Given the description of an element on the screen output the (x, y) to click on. 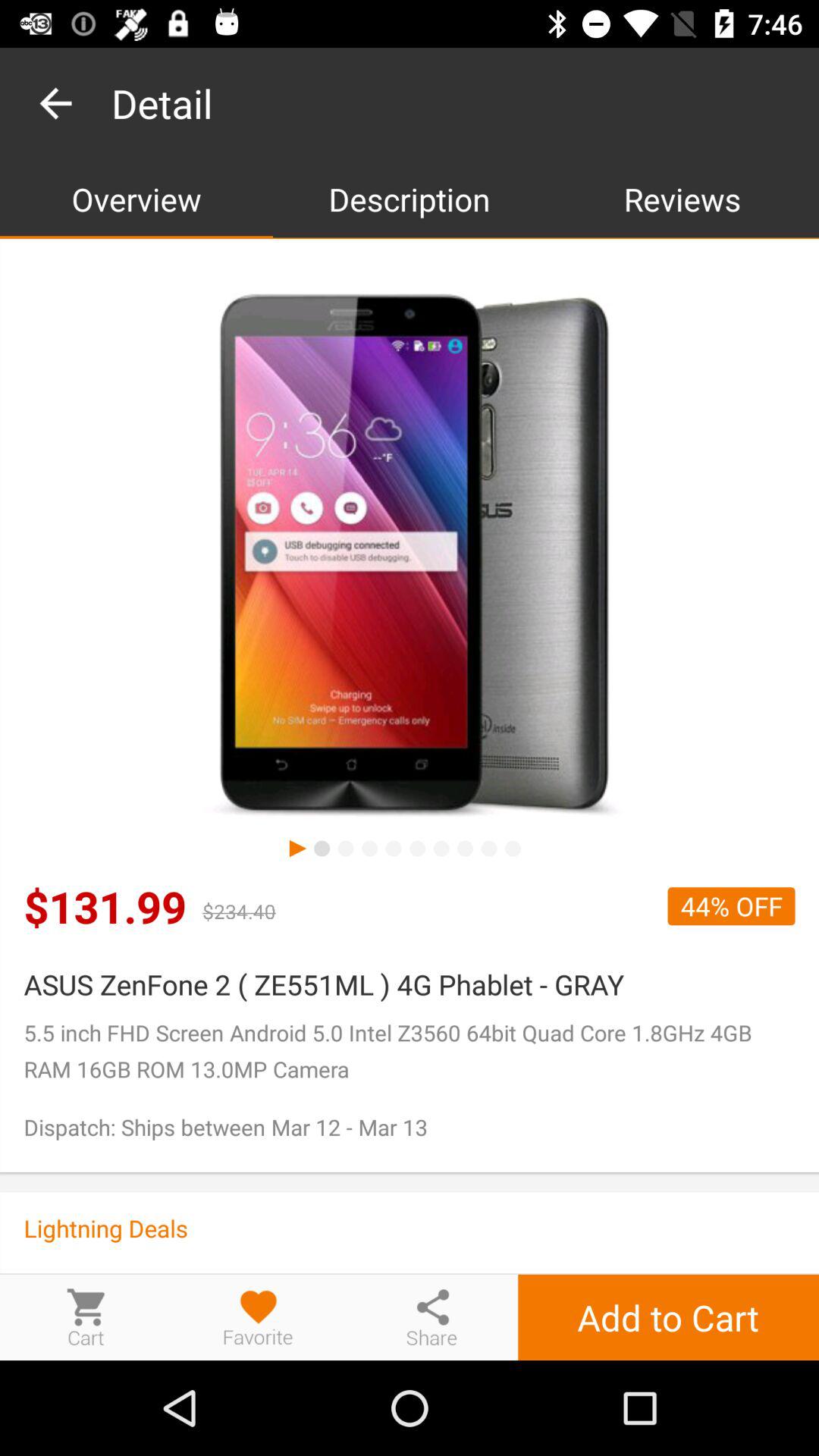
turn on description app (409, 198)
